Given the description of an element on the screen output the (x, y) to click on. 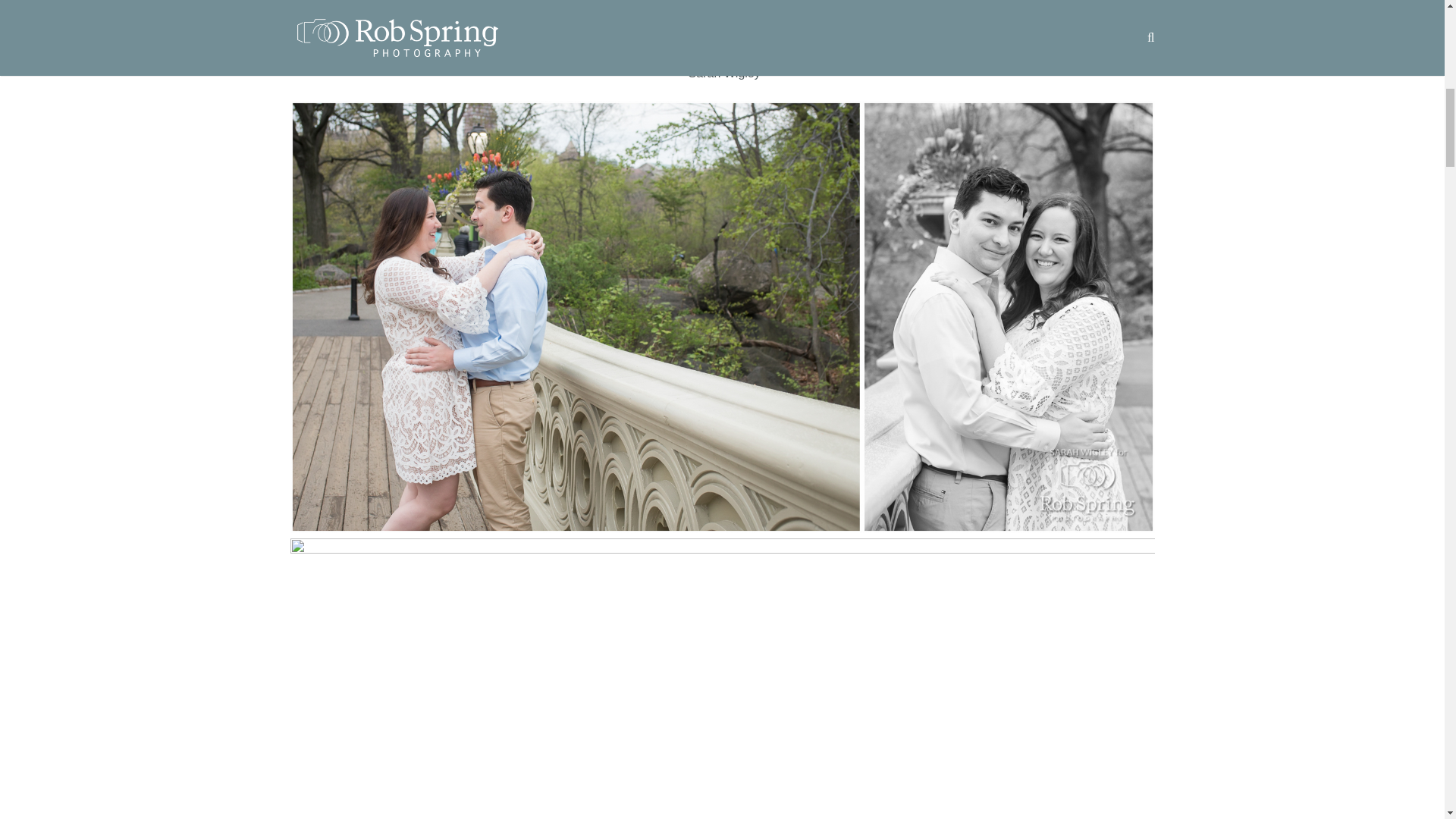
Back to top (1413, 22)
